Given the description of an element on the screen output the (x, y) to click on. 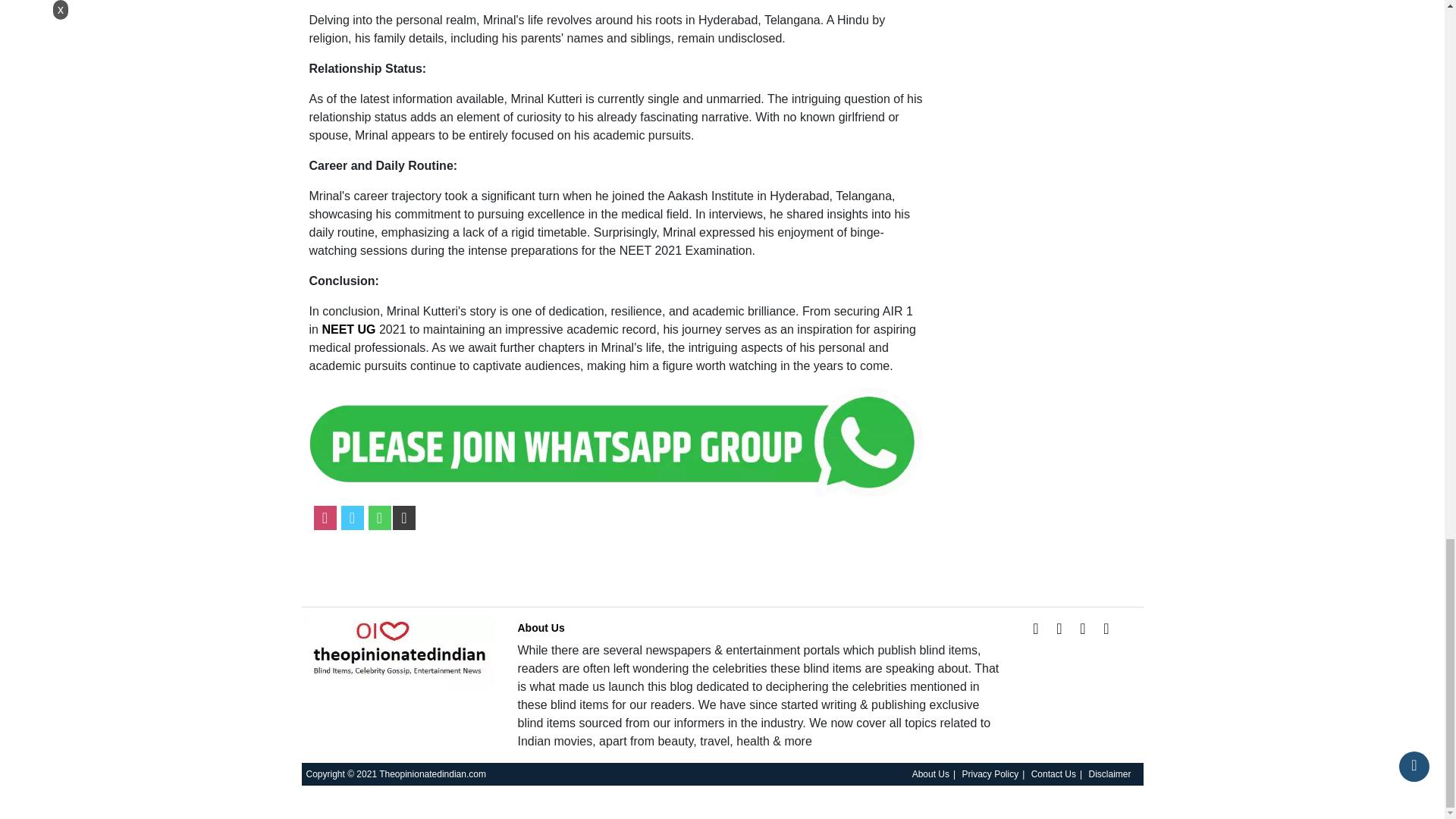
Twitter (352, 517)
Twitter (1058, 628)
Youtube (1105, 628)
WhatsApp (379, 517)
Instagram (1082, 628)
Facebook (1035, 628)
Telegram (403, 517)
Instagram (325, 517)
